Given the description of an element on the screen output the (x, y) to click on. 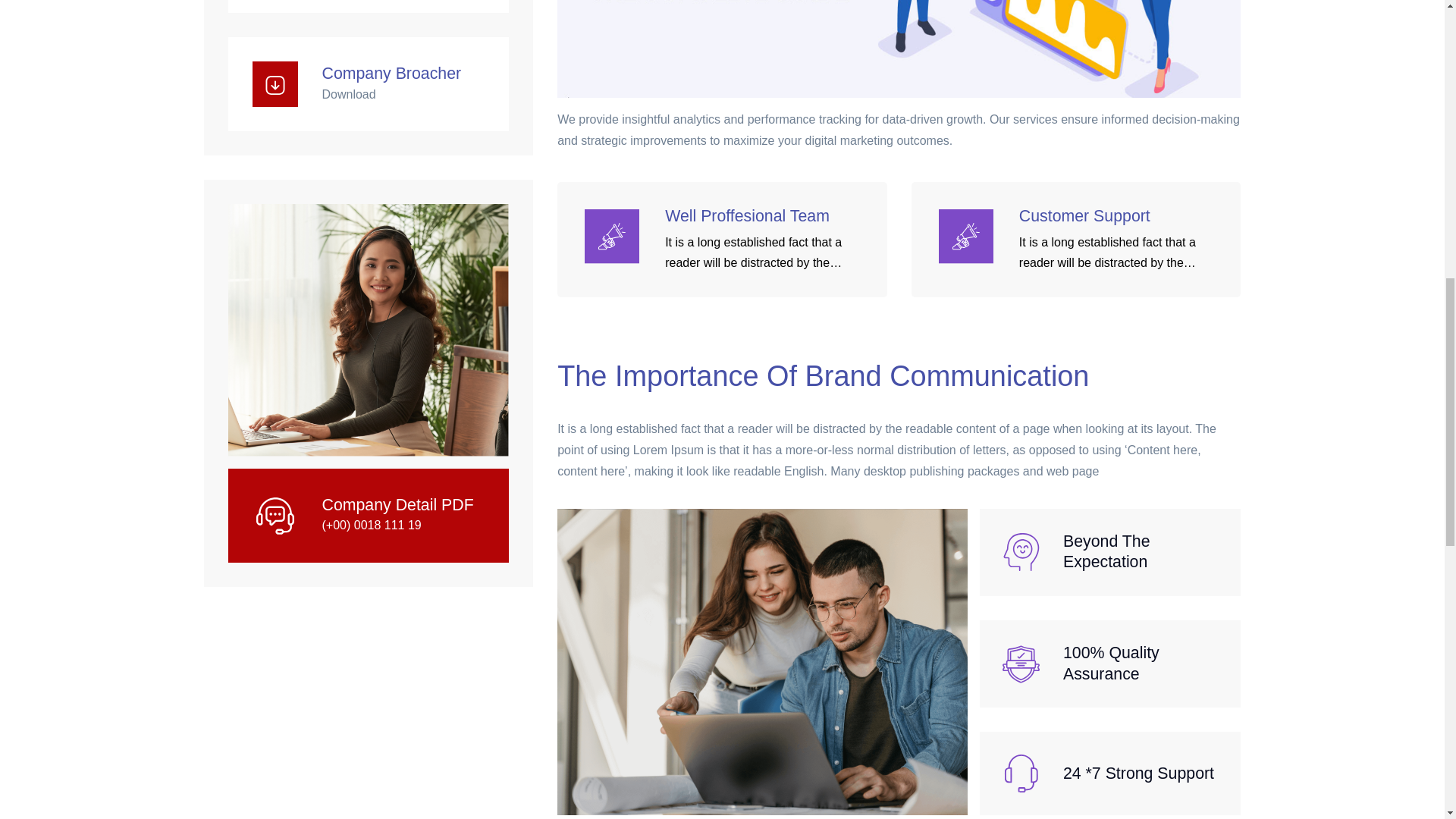
Well Proffesional Team (764, 216)
Customer Support (1118, 216)
Download (348, 93)
